Given the description of an element on the screen output the (x, y) to click on. 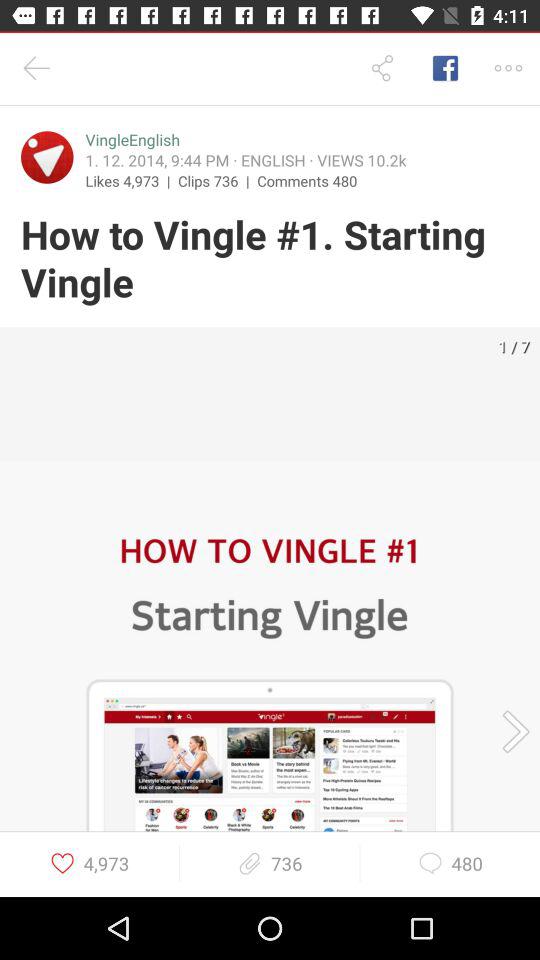
choose item next to the clips 736  |   icon (307, 180)
